Given the description of an element on the screen output the (x, y) to click on. 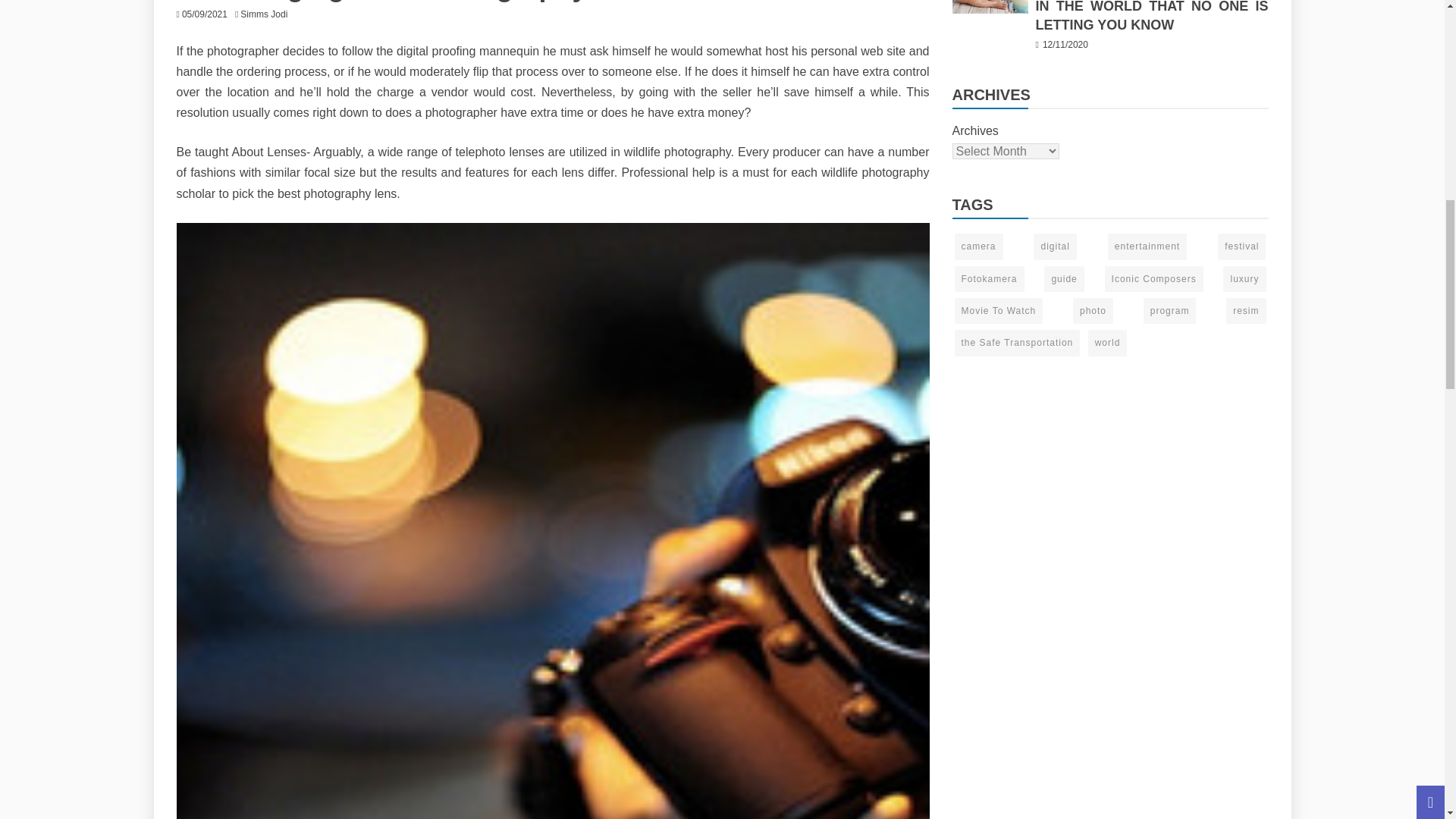
Simms Jodi (267, 14)
